Given the description of an element on the screen output the (x, y) to click on. 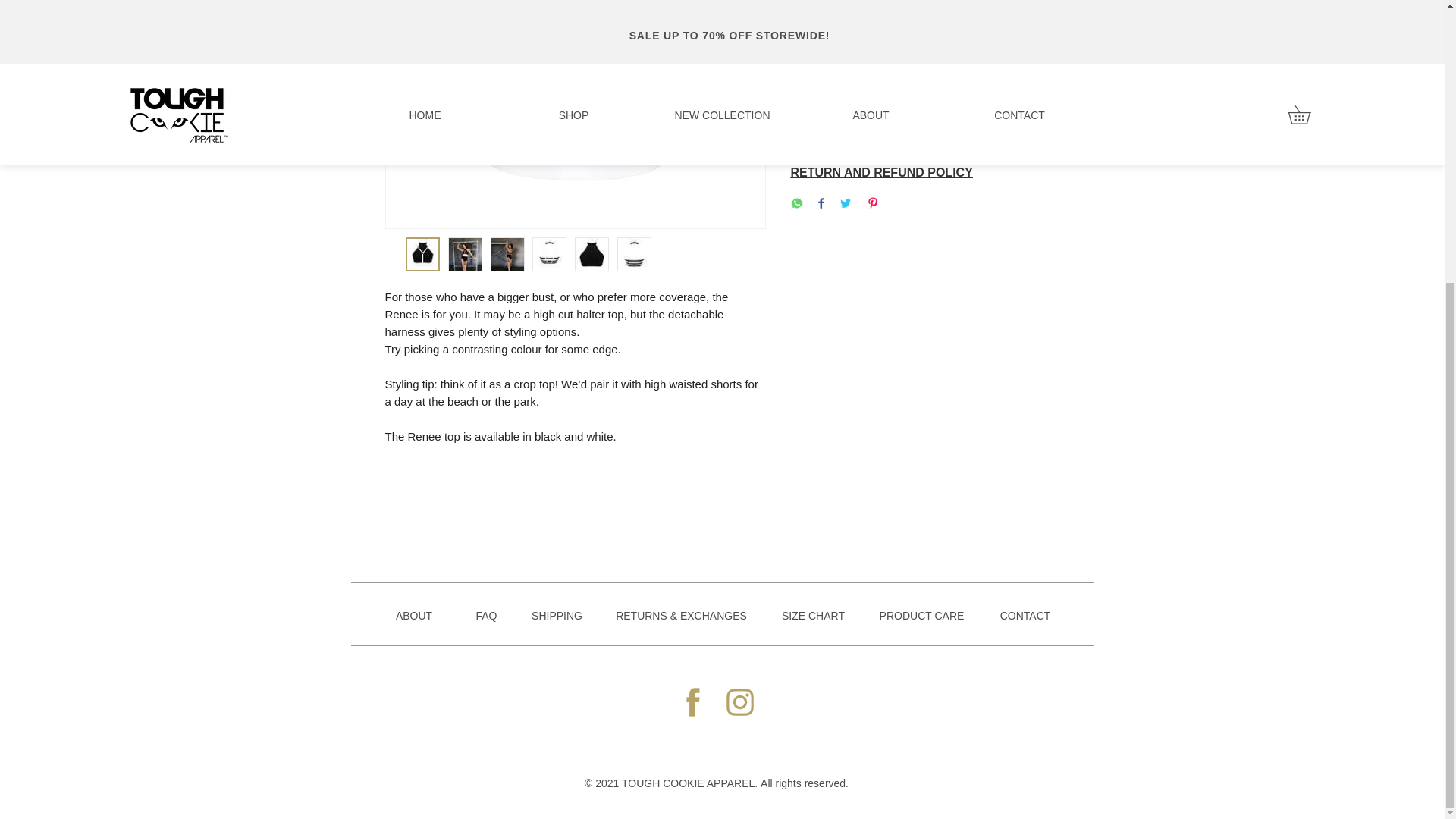
SHIPPING (556, 615)
CONTACT (1025, 615)
FAQ (486, 615)
PRODUCT CARE (921, 615)
ABOUT (414, 615)
SIZE CHART (812, 615)
RETURN AND REFUND POLICY (881, 172)
2021 TOUGH COOKIE APPAREL. (677, 783)
All rights reserved. (804, 783)
SIZE CHART (826, 135)
